Given the description of an element on the screen output the (x, y) to click on. 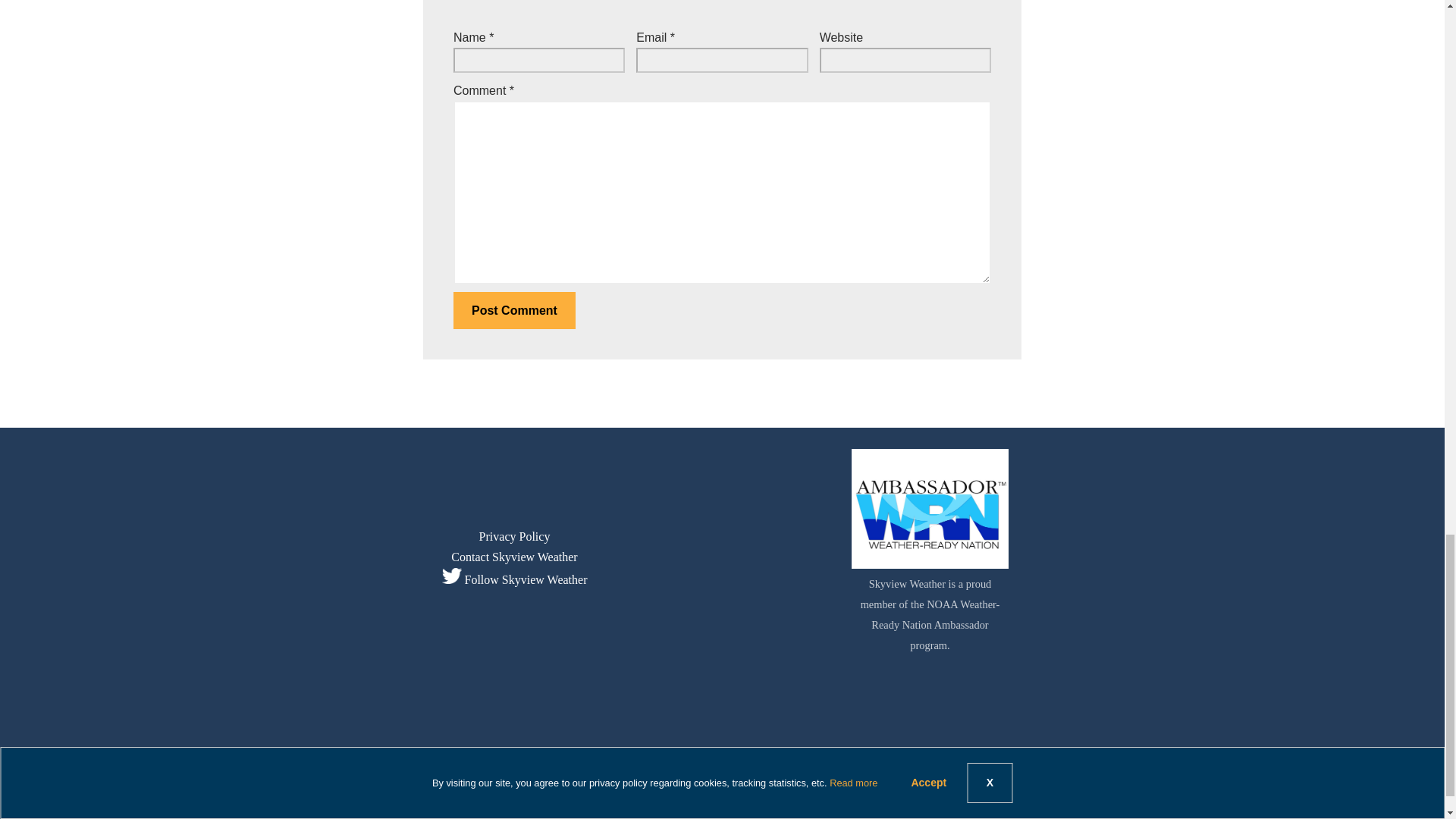
Post Comment (513, 310)
